Given the description of an element on the screen output the (x, y) to click on. 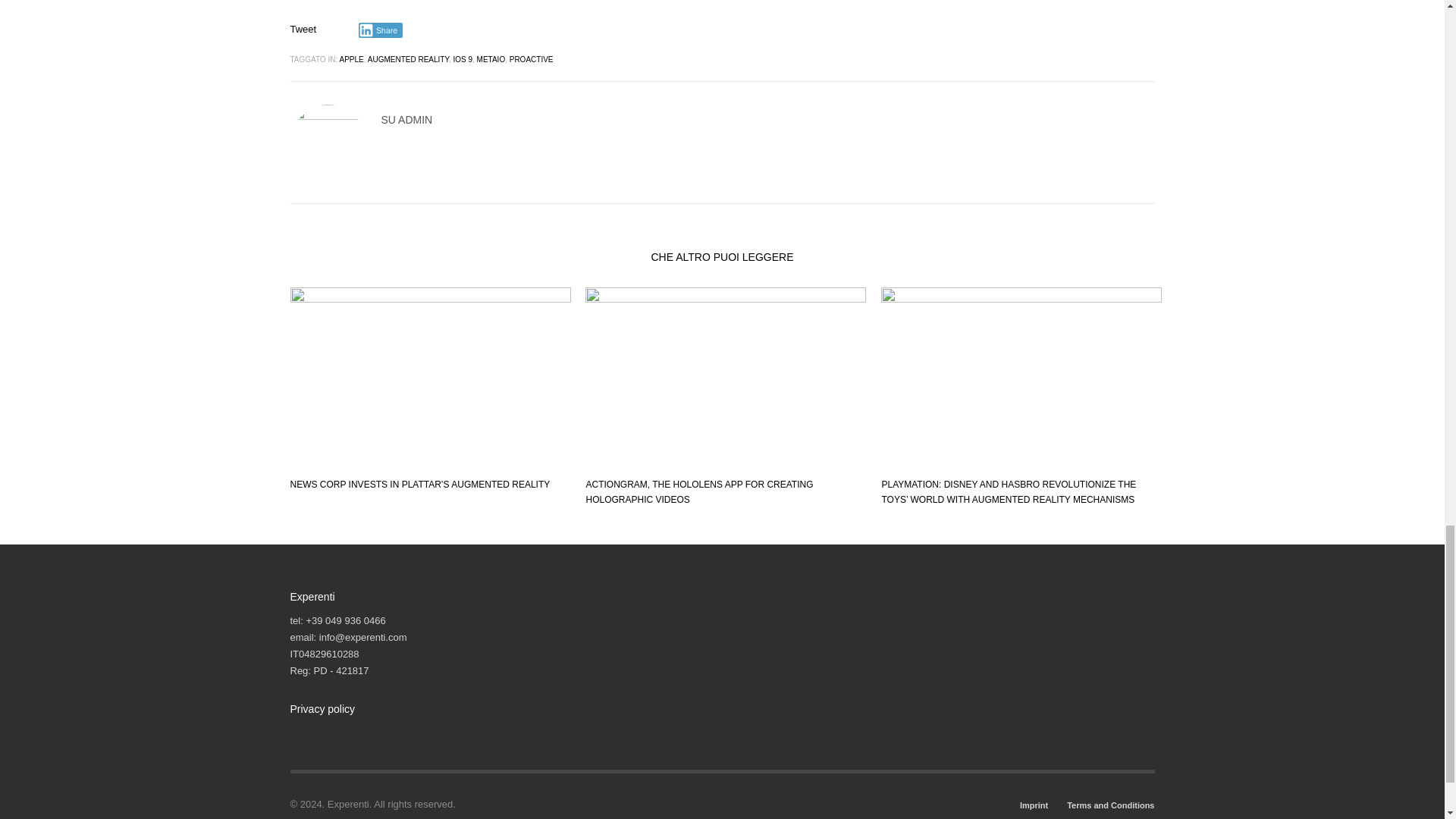
Privacy Policy (325, 733)
